Given the description of an element on the screen output the (x, y) to click on. 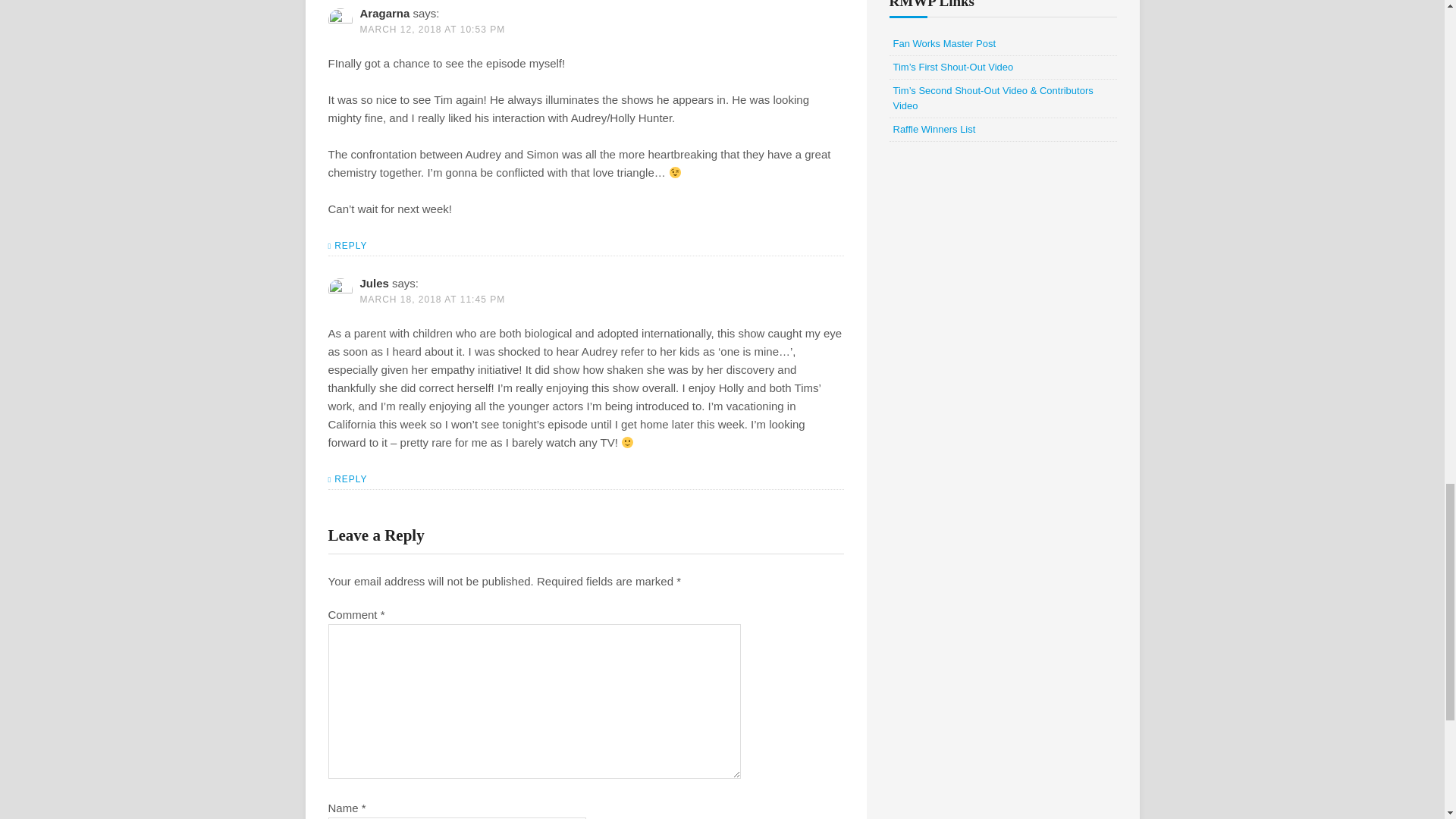
REPLY (346, 247)
MARCH 18, 2018 AT 11:45 PM (432, 299)
MARCH 12, 2018 AT 10:53 PM (432, 29)
REPLY (346, 481)
